Given the description of an element on the screen output the (x, y) to click on. 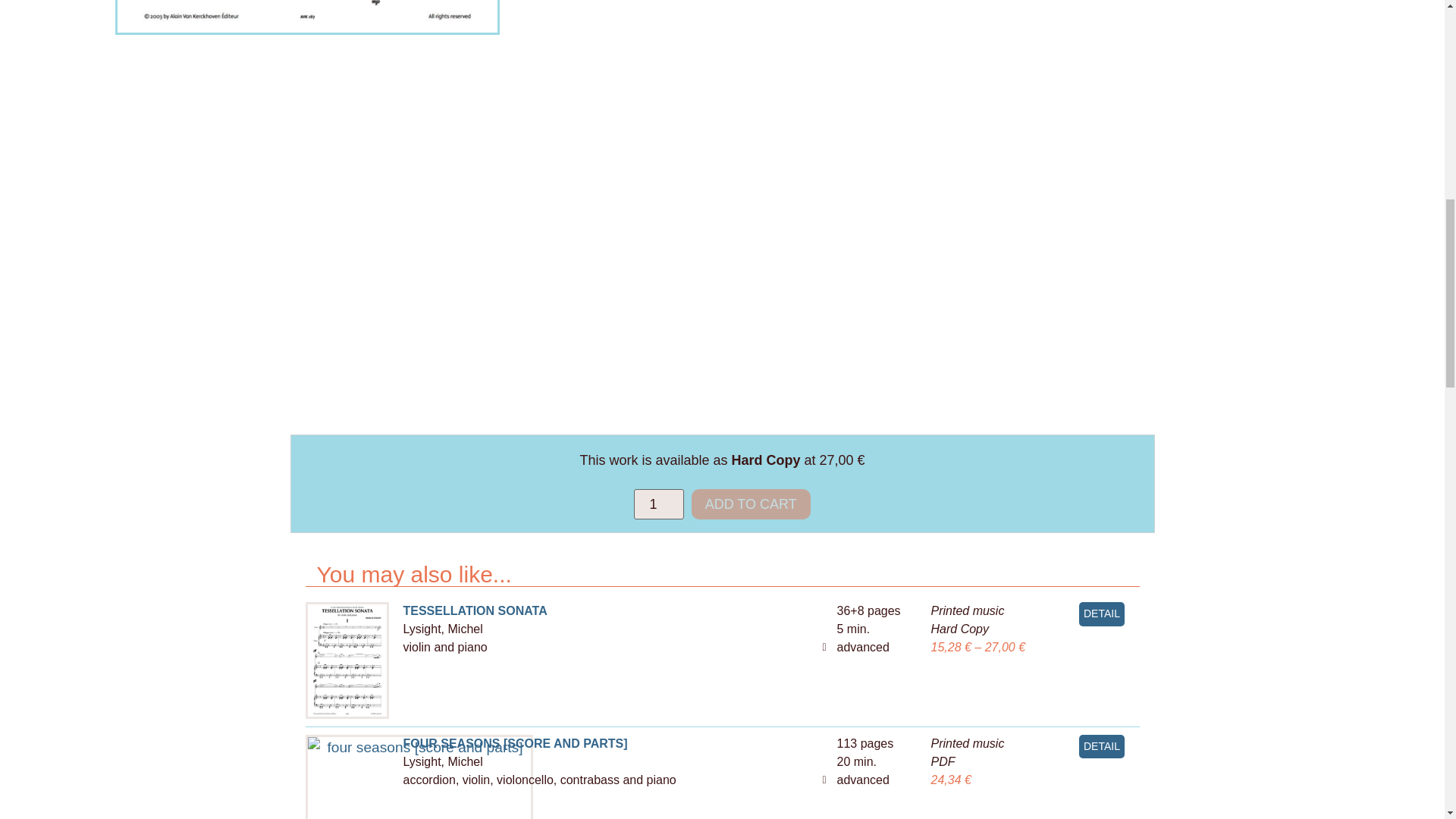
Lysight, Michel (443, 761)
DETAIL (1101, 746)
TESSELLATION SONATA (467, 610)
1 (657, 503)
Lysight, Michel (443, 628)
ADD TO CART (750, 503)
DETAIL (1101, 613)
